Given the description of an element on the screen output the (x, y) to click on. 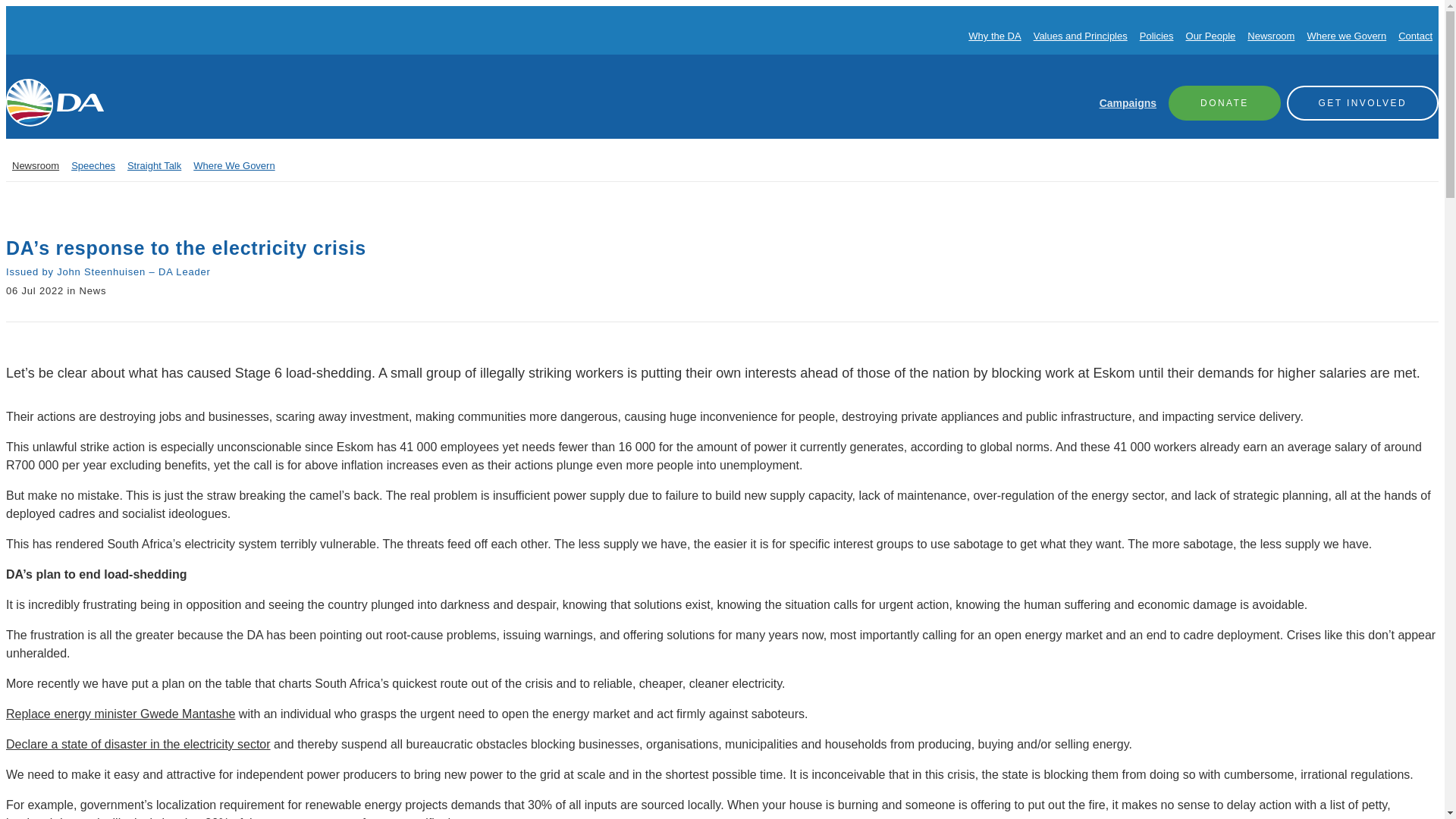
Straight Talk (154, 165)
Newsroom (35, 165)
Values and Principles (1079, 35)
DONATE (1225, 102)
Where we Govern (1346, 35)
Why the DA (994, 35)
Policies (1156, 35)
Where We Govern (234, 165)
DONATE (1225, 101)
Speeches (93, 165)
